Given the description of an element on the screen output the (x, y) to click on. 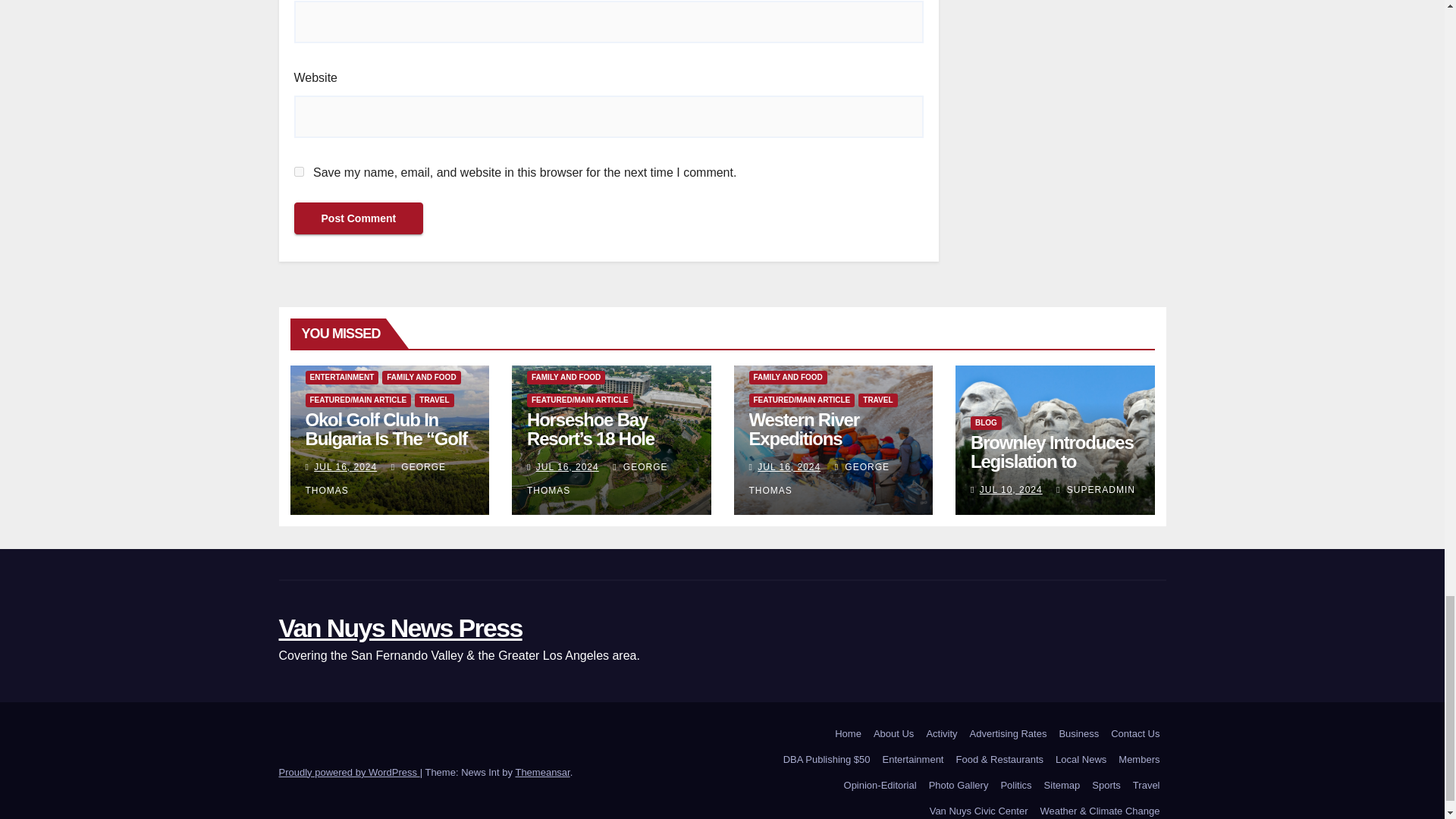
Home (847, 733)
yes (299, 171)
Post Comment (358, 218)
